Given the description of an element on the screen output the (x, y) to click on. 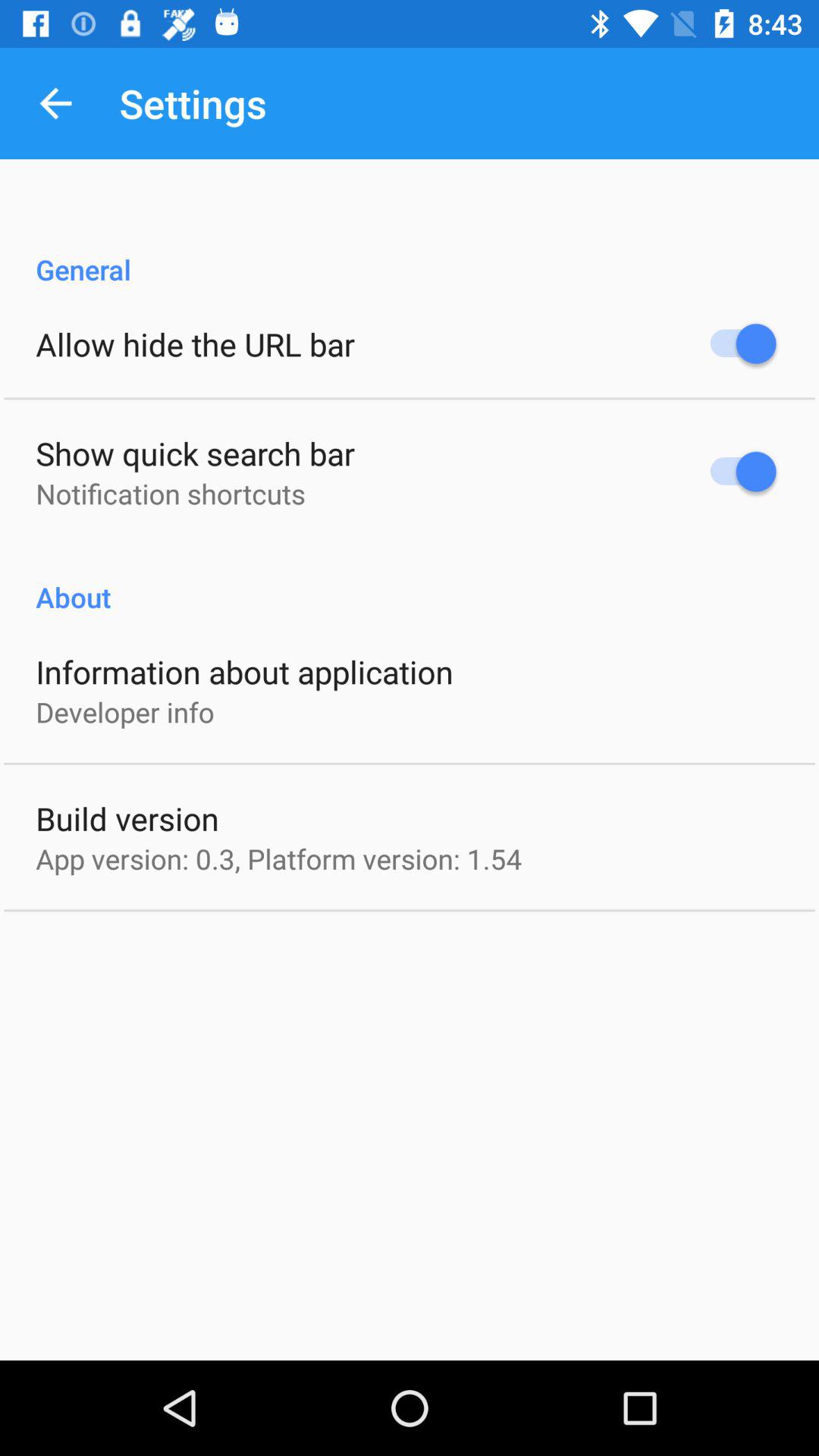
choose app version 0 item (278, 858)
